Given the description of an element on the screen output the (x, y) to click on. 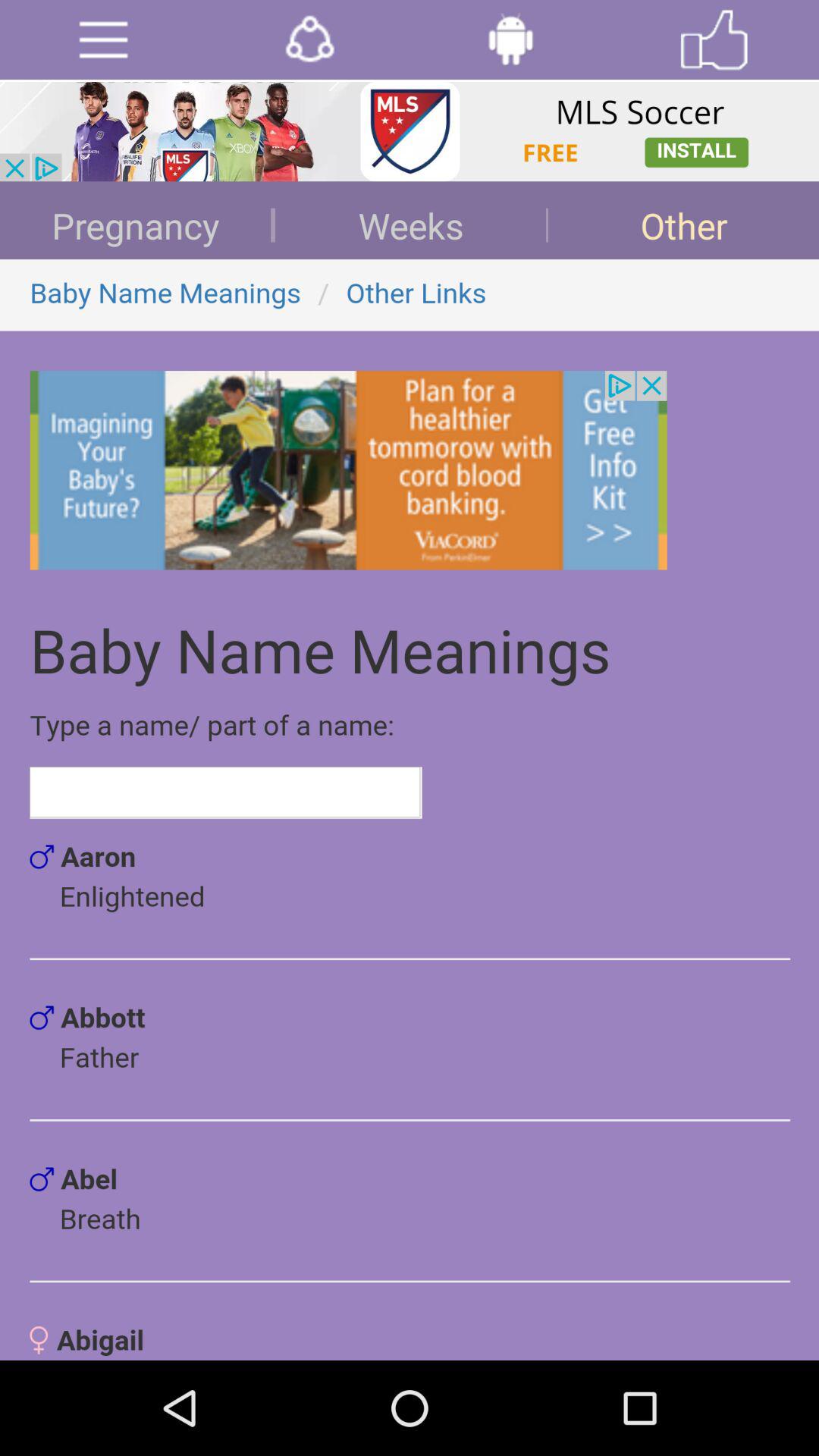
like page (714, 39)
